Given the description of an element on the screen output the (x, y) to click on. 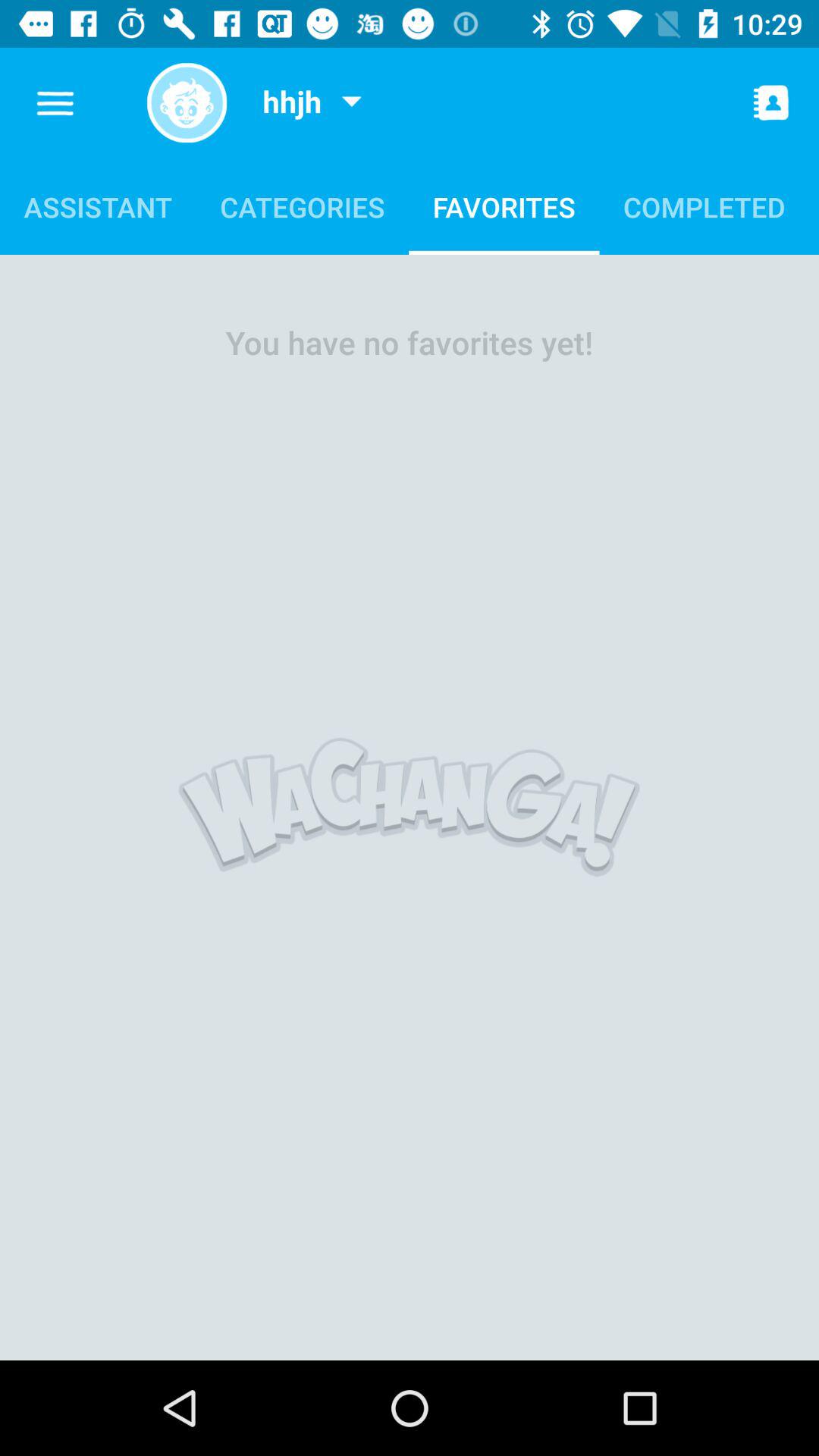
profile drop-down menu (351, 102)
